Given the description of an element on the screen output the (x, y) to click on. 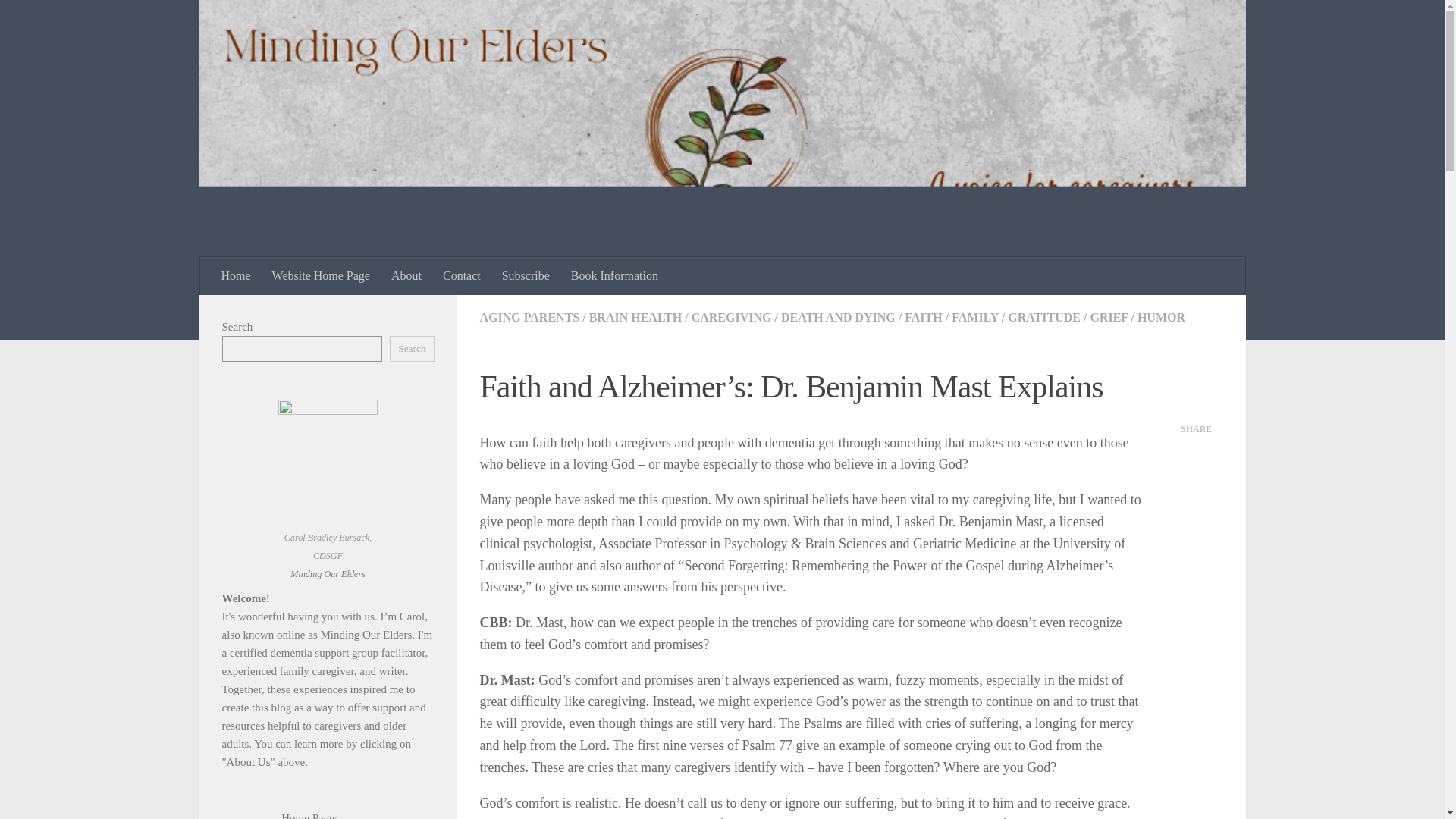
Book Information (614, 275)
GRATITUDE (1043, 317)
FAMILY (975, 317)
About (406, 275)
Website Home Page (321, 275)
CAREGIVING (731, 317)
GRIEF (1107, 317)
AGING PARENTS (529, 317)
Home (236, 275)
HUMOR (1161, 317)
DEATH AND DYING (837, 317)
BRAIN HEALTH (635, 317)
Contact (462, 275)
Skip to content (59, 20)
Subscribe (526, 275)
